Given the description of an element on the screen output the (x, y) to click on. 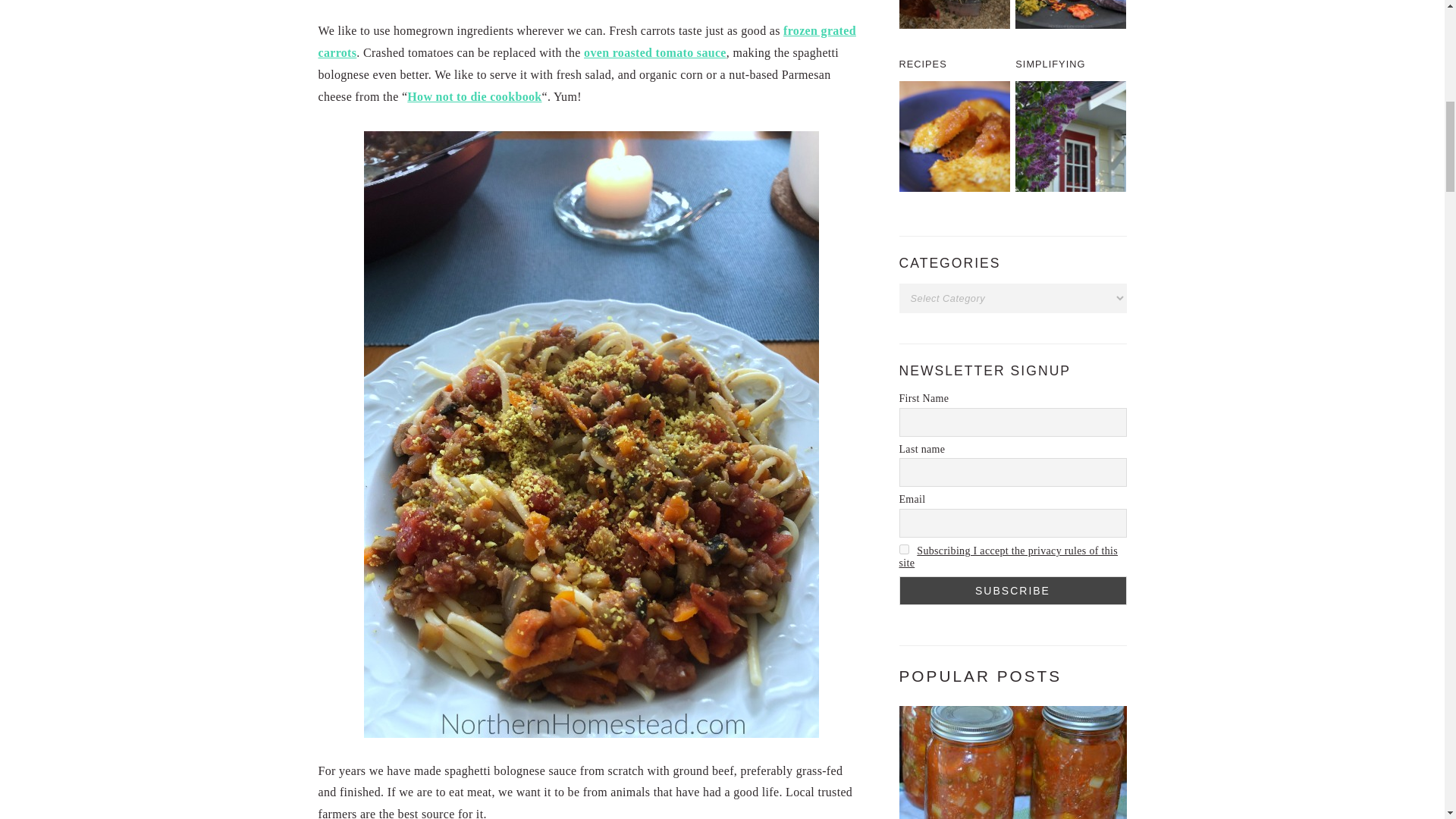
oven roasted tomato sauce (654, 51)
How not to die cookbook (474, 96)
on (903, 549)
frozen grated carrots (587, 41)
Subscribe (1012, 590)
